Given the description of an element on the screen output the (x, y) to click on. 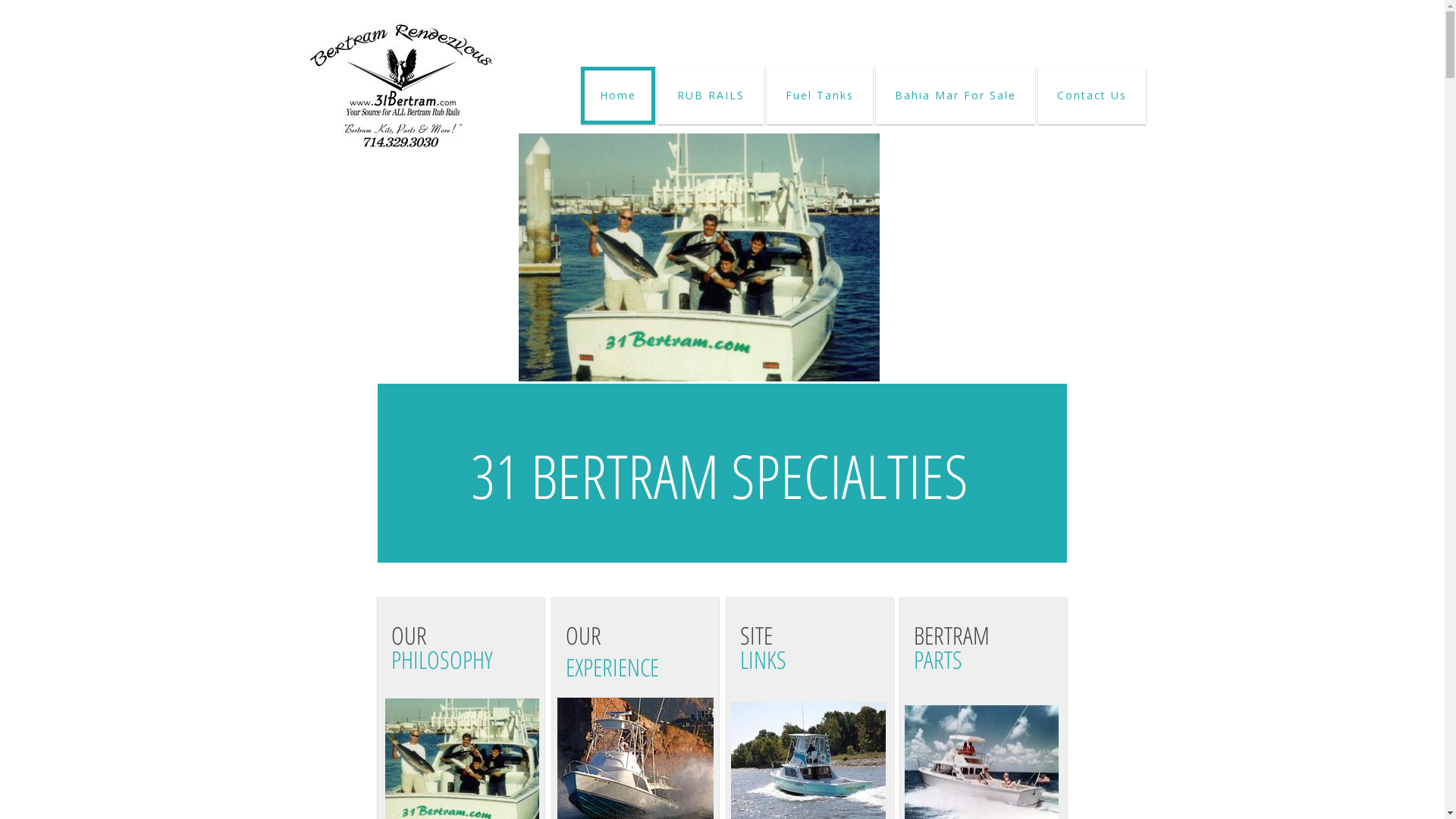
RUB RAILS Element type: text (710, 95)
Home Element type: text (617, 95)
Fuel Tanks Element type: text (818, 95)
Bahia Mar For Sale Element type: text (954, 95)
Contact Us Element type: text (1091, 95)
